Given the description of an element on the screen output the (x, y) to click on. 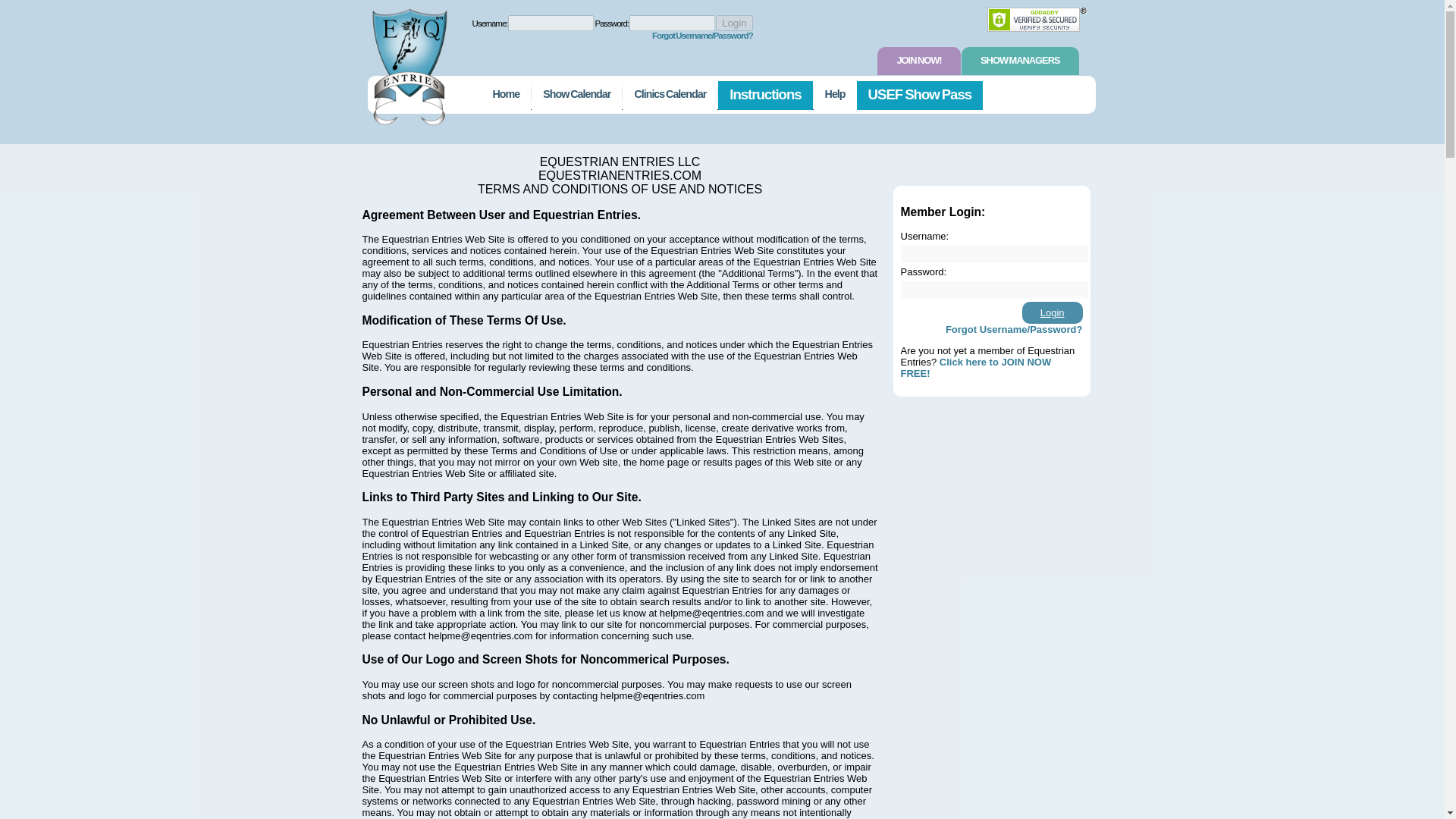
Login (734, 23)
Click here to JOIN NOW FREE! (976, 367)
Instructions (764, 95)
SHOW MANAGERS (1019, 60)
Show Calendar (576, 95)
Login (1052, 312)
Login (734, 23)
Login (1052, 312)
USEF Show Pass (920, 95)
Clinics Calendar (670, 95)
Help (835, 95)
JOIN NOW! (918, 60)
Home (505, 95)
